Given the description of an element on the screen output the (x, y) to click on. 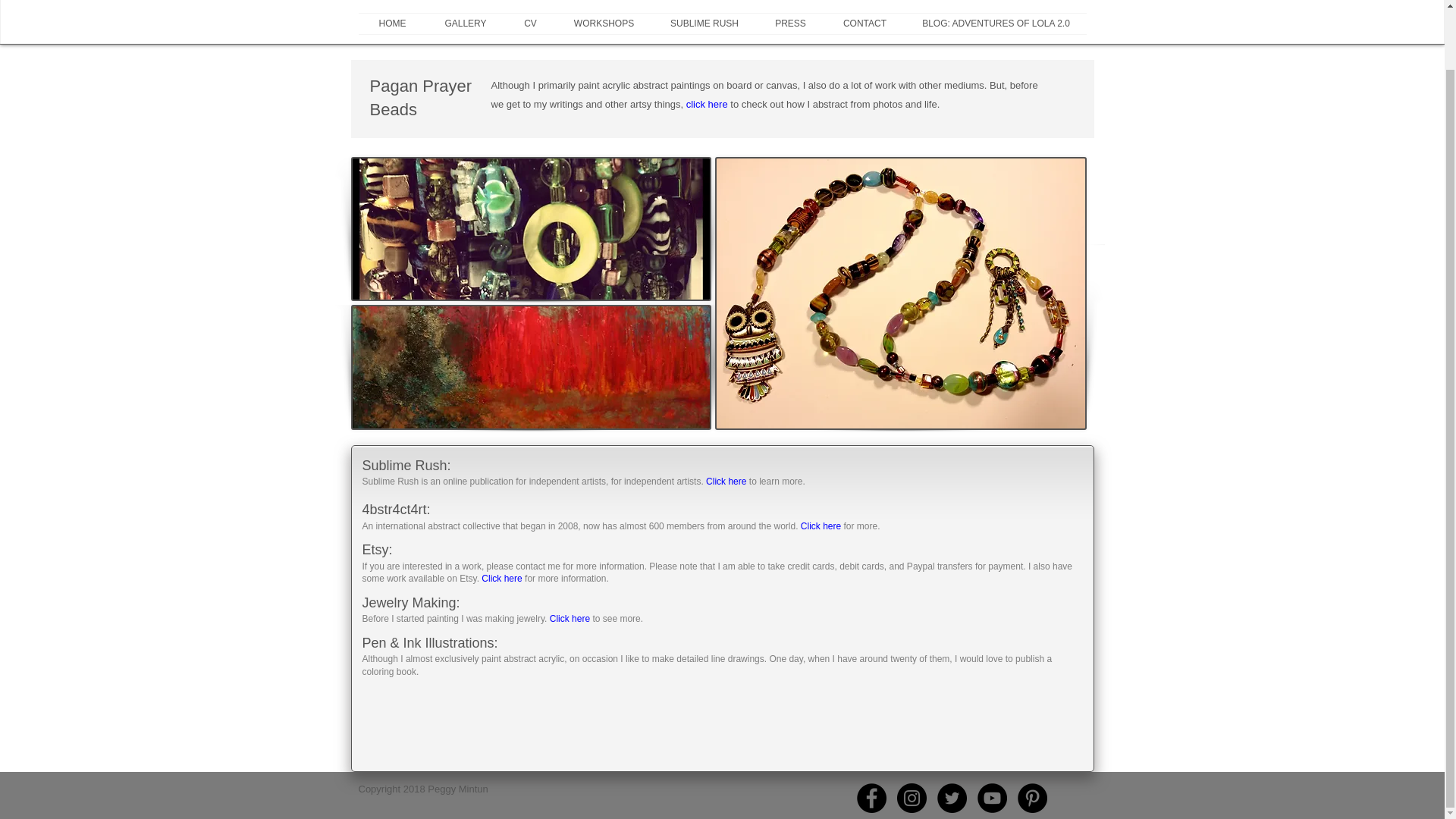
HOME (392, 23)
WORKSHOPS (604, 23)
BLOG: ADVENTURES OF LOLA 2.0 (995, 23)
GALLERY (464, 23)
Click here (569, 618)
CV (530, 23)
click here (706, 103)
CONTACT (864, 23)
Click here (725, 480)
SUBLIME RUSH (704, 23)
